Given the description of an element on the screen output the (x, y) to click on. 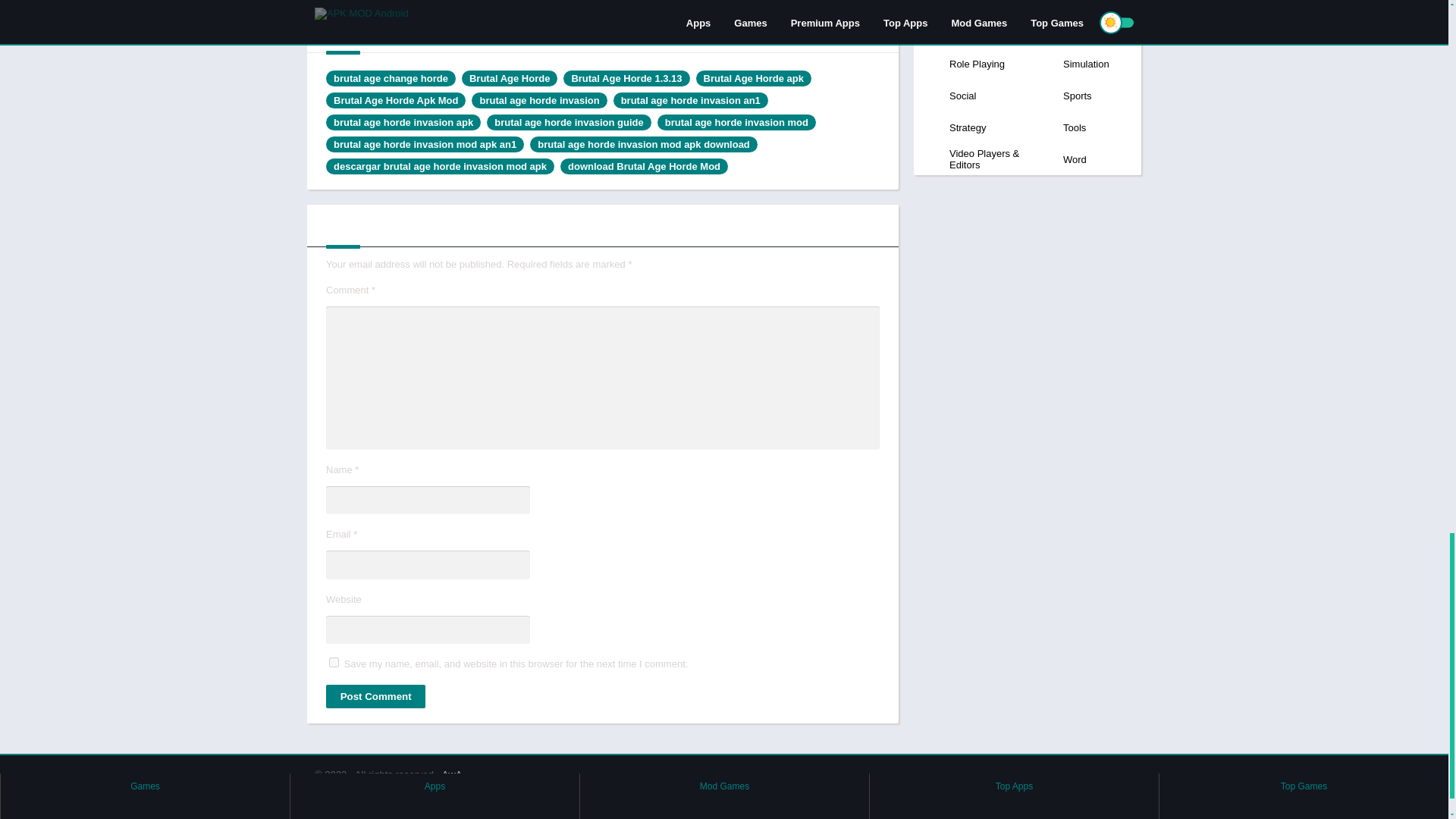
yes (334, 662)
Post Comment (375, 696)
